Given the description of an element on the screen output the (x, y) to click on. 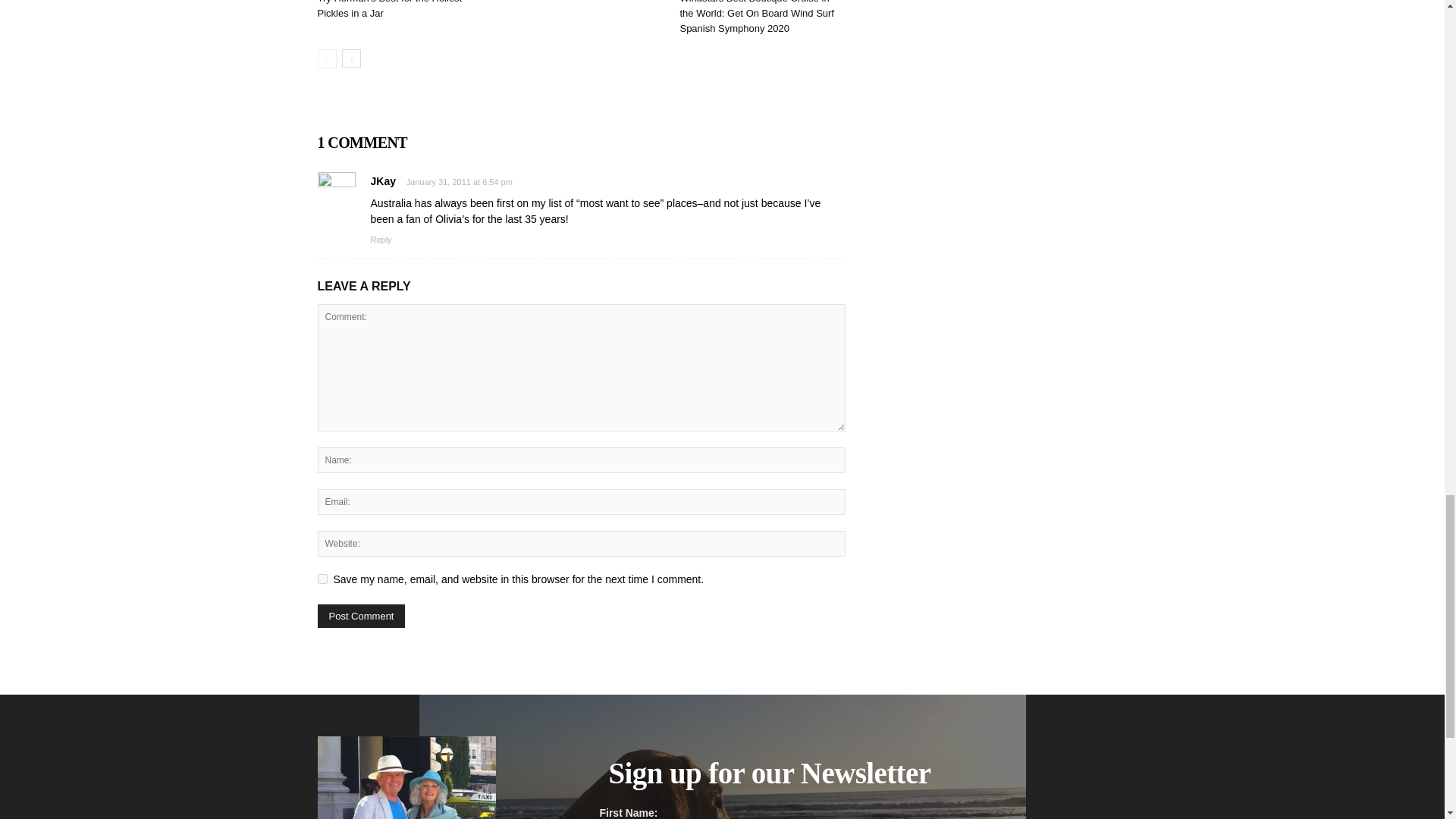
yes (321, 578)
Post Comment (360, 616)
